Given the description of an element on the screen output the (x, y) to click on. 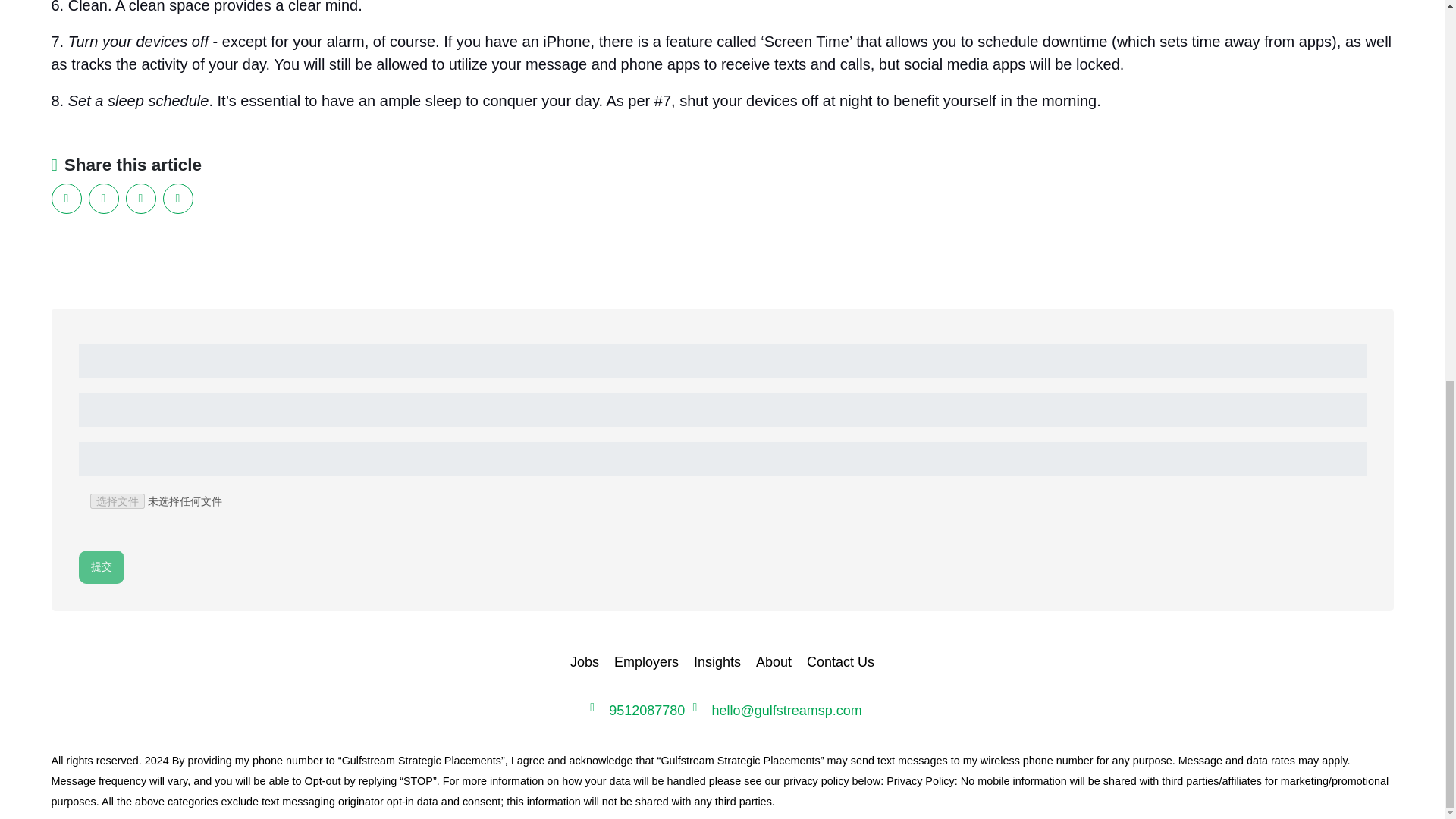
9512087780 (646, 710)
LinkedIn (65, 198)
Email (176, 198)
Employers (646, 662)
Jobs (584, 662)
Facebook (102, 198)
Twitter (140, 198)
Insights (717, 662)
Contact Us (840, 662)
About (773, 662)
